Given the description of an element on the screen output the (x, y) to click on. 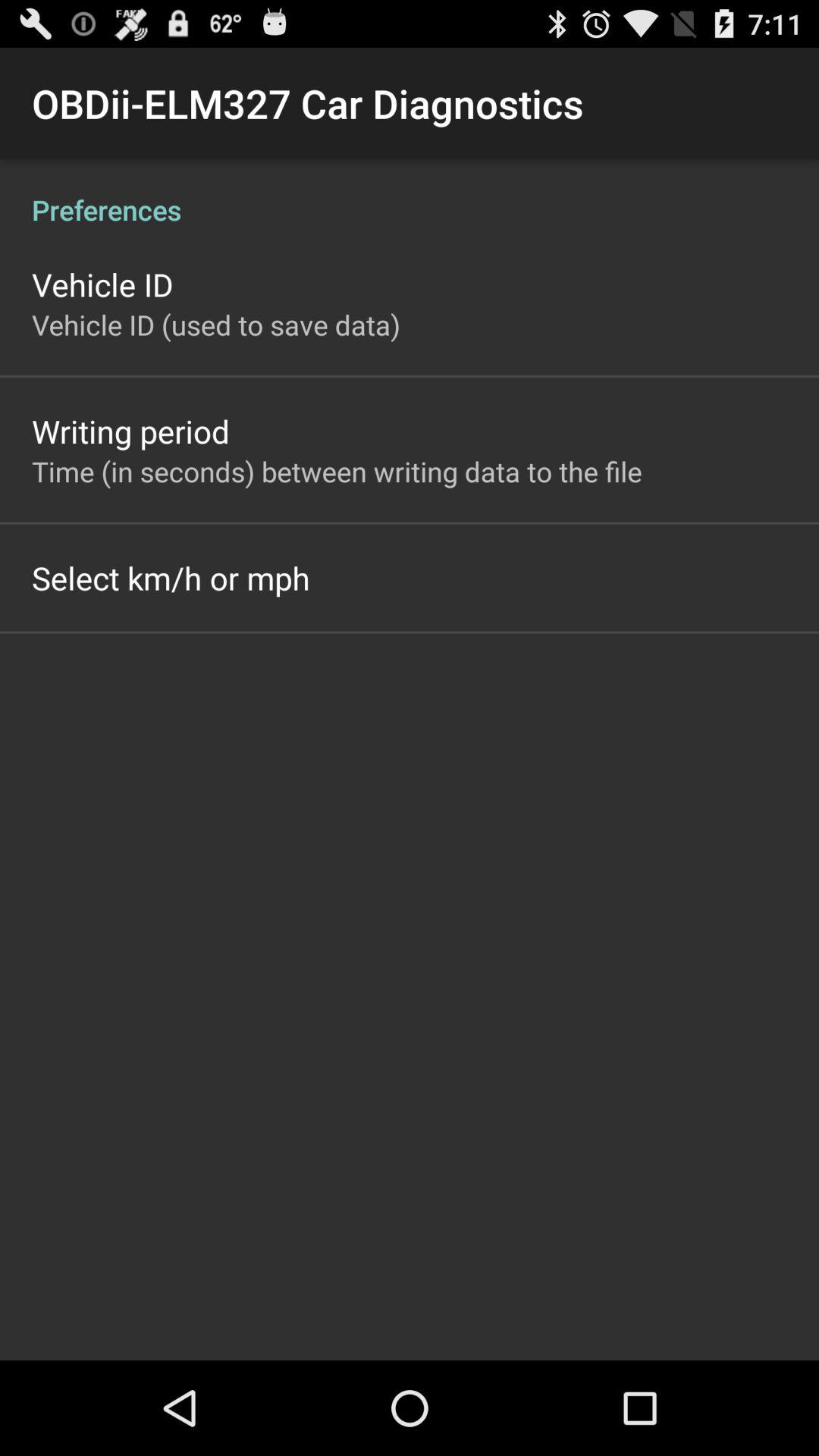
click preferences item (409, 193)
